Given the description of an element on the screen output the (x, y) to click on. 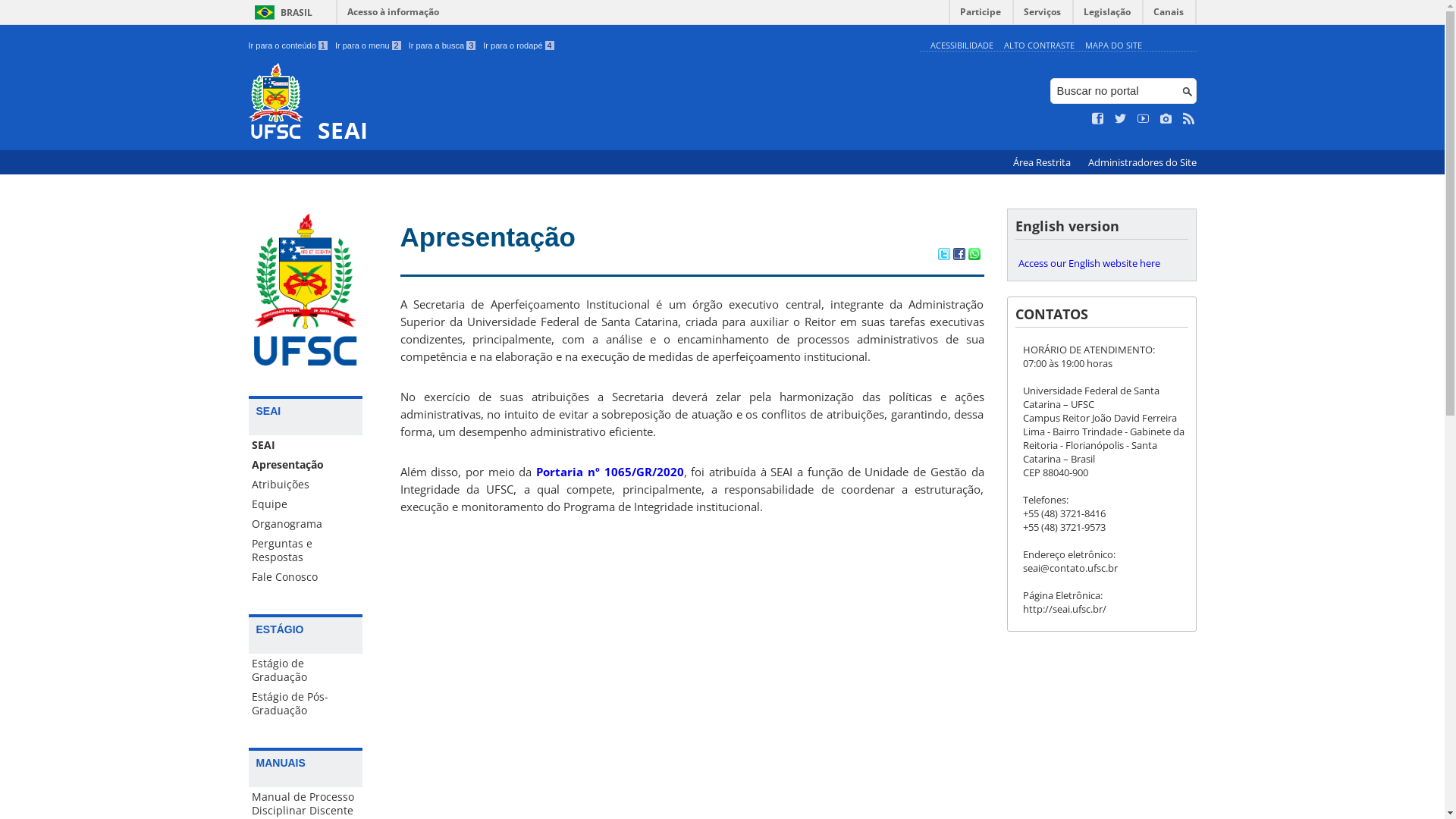
Participe Element type: text (980, 15)
Perguntas e Respostas Element type: text (305, 550)
Compartilhar no WhatsApp Element type: hover (973, 255)
Compartilhar no Twitter Element type: hover (943, 255)
Ir para o menu 2 Element type: text (368, 45)
Access our English website here Element type: text (1100, 263)
Organograma Element type: text (305, 523)
ACESSIBILIDADE Element type: text (960, 44)
Curta no Facebook Element type: hover (1098, 118)
SEAI Element type: text (305, 445)
Veja no Instagram Element type: hover (1166, 118)
ALTO CONTRASTE Element type: text (1039, 44)
Siga no Twitter Element type: hover (1120, 118)
Equipe Element type: text (305, 504)
Fale Conosco Element type: text (305, 576)
BRASIL Element type: text (280, 12)
MAPA DO SITE Element type: text (1112, 44)
SEAI Element type: text (580, 102)
Administradores do Site Element type: text (1141, 162)
Compartilhar no Facebook Element type: hover (958, 255)
Ir para a busca 3 Element type: text (442, 45)
Canais Element type: text (1169, 15)
